Given the description of an element on the screen output the (x, y) to click on. 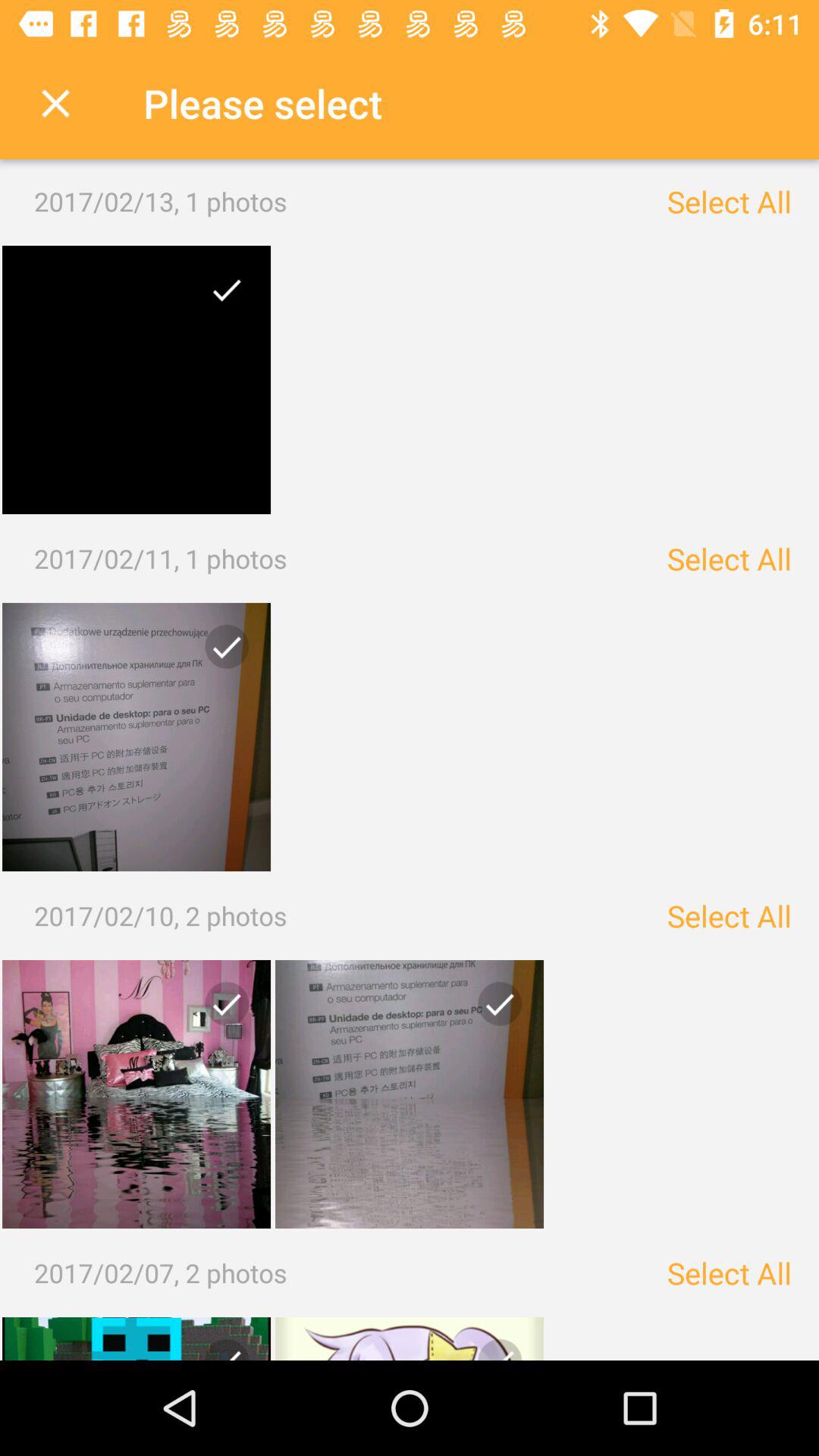
photo checkmark (220, 1009)
